Given the description of an element on the screen output the (x, y) to click on. 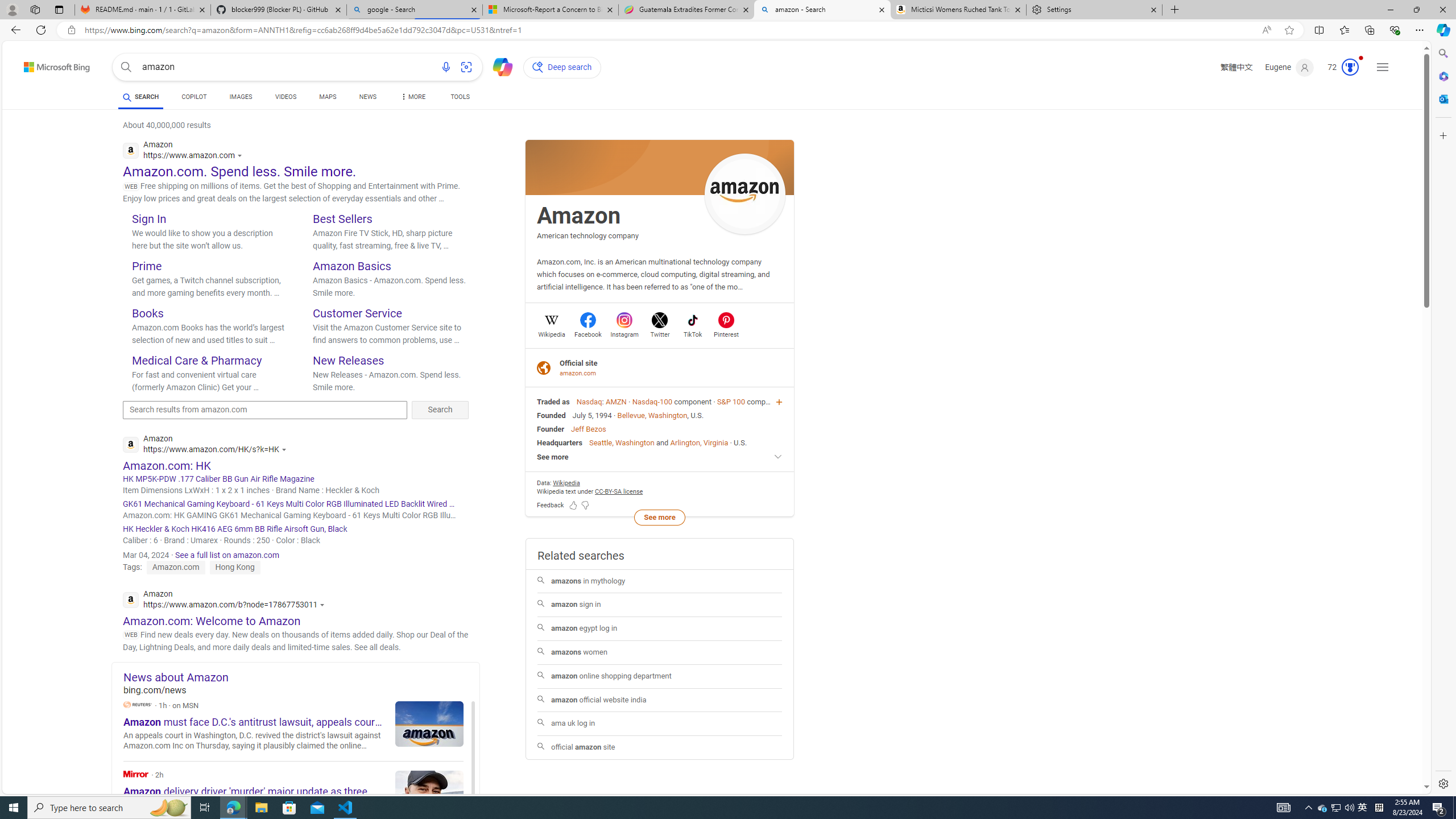
amazon online shopping department (659, 676)
AutomationID: rh_meter (1350, 66)
See more images of Amazon (745, 193)
Founder (550, 429)
SEARCH (140, 96)
official amazon site (659, 747)
S&P 100 (730, 401)
